Given the description of an element on the screen output the (x, y) to click on. 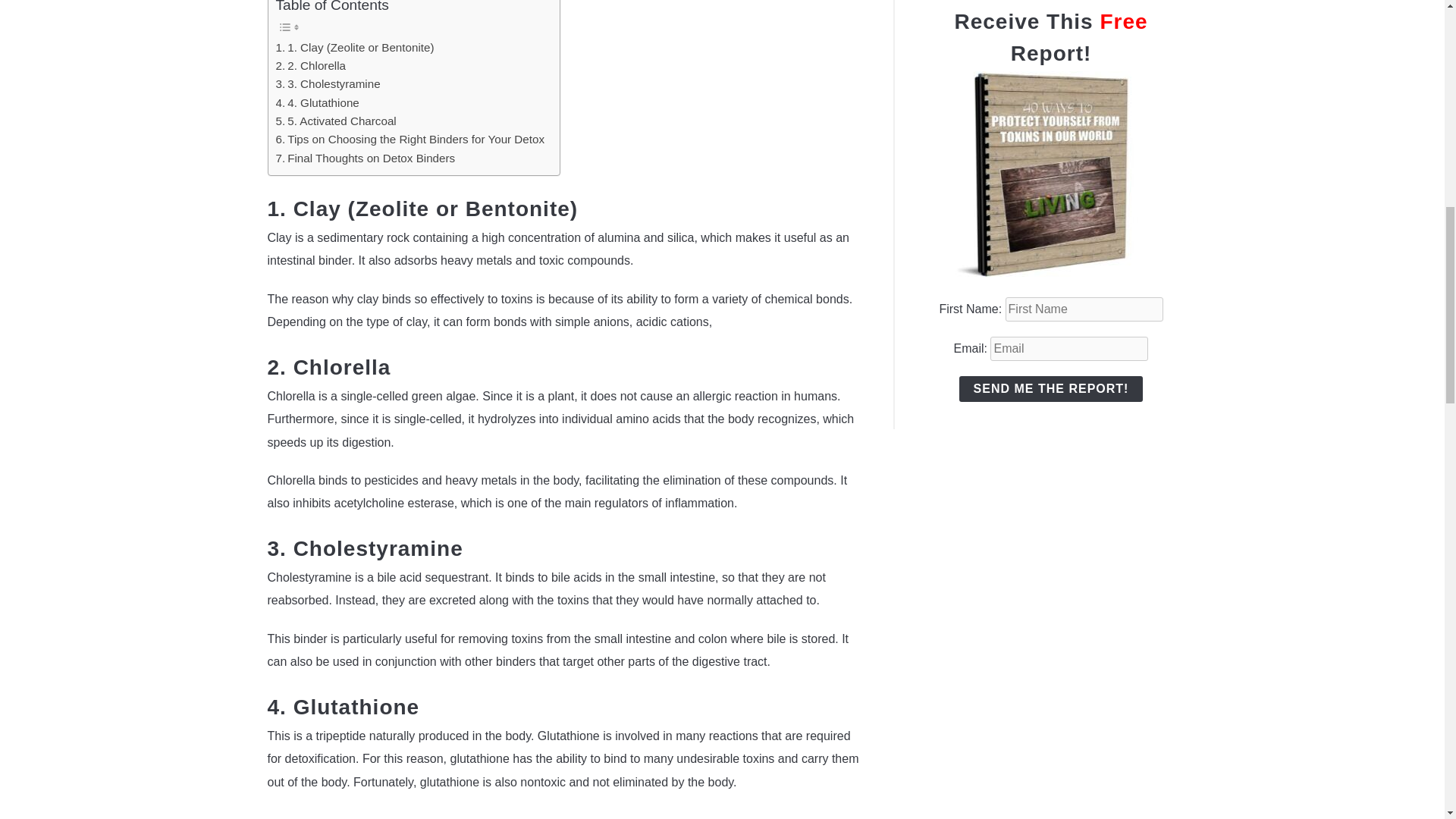
Tips on Choosing the Right Binders for Your Detox (410, 139)
5. Activated Charcoal (336, 121)
Final Thoughts on Detox Binders (365, 158)
2. Chlorella (311, 65)
3. Cholestyramine (328, 84)
4. Glutathione (317, 103)
Final Thoughts on Detox Binders (365, 158)
SEND ME THE REPORT! (1050, 388)
4. Glutathione (317, 103)
2. Chlorella (311, 65)
5. Activated Charcoal (336, 121)
Tips on Choosing the Right Binders for Your Detox (410, 139)
3. Cholestyramine (328, 84)
